Given the description of an element on the screen output the (x, y) to click on. 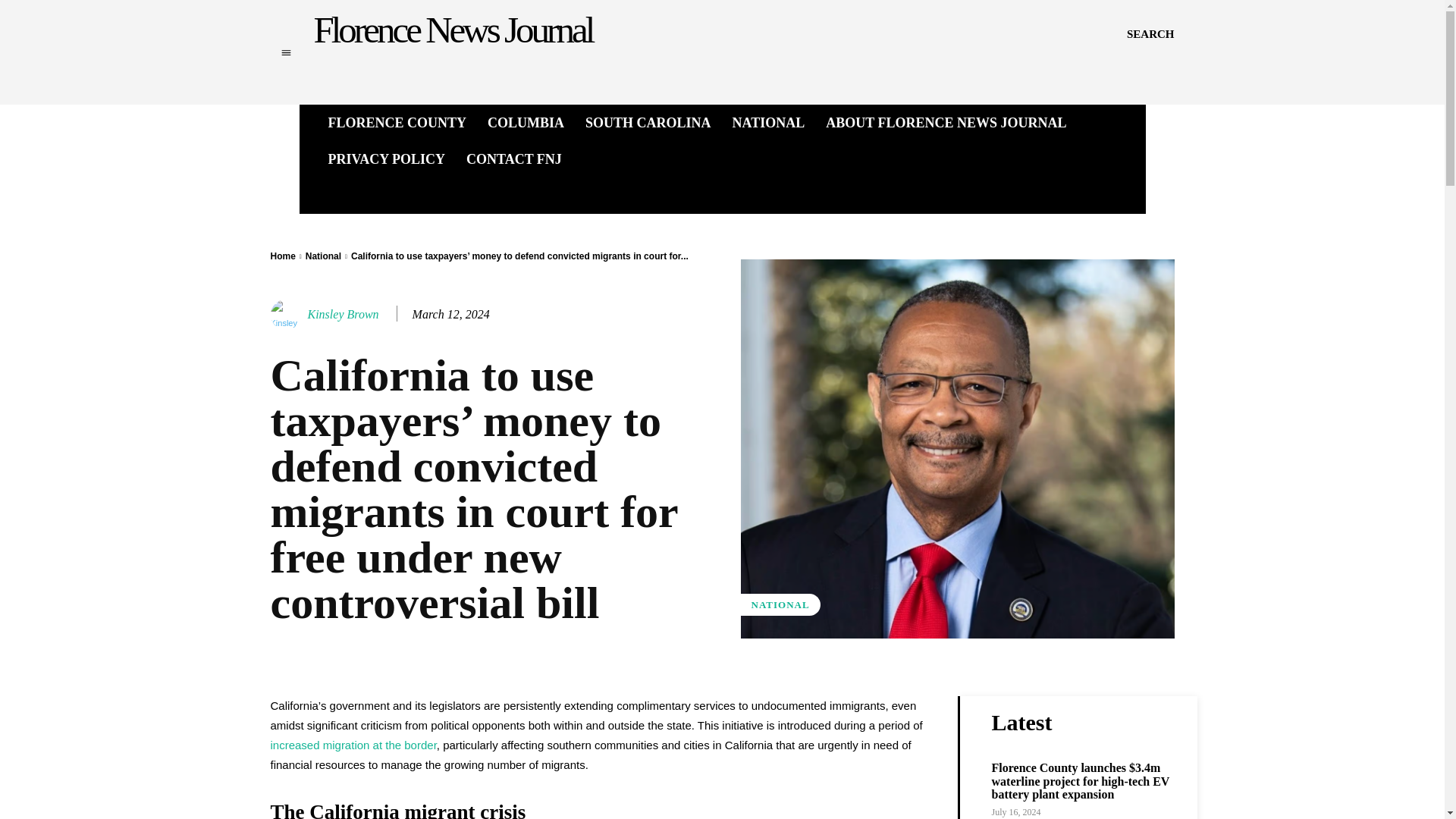
View all posts in National (322, 255)
